Given the description of an element on the screen output the (x, y) to click on. 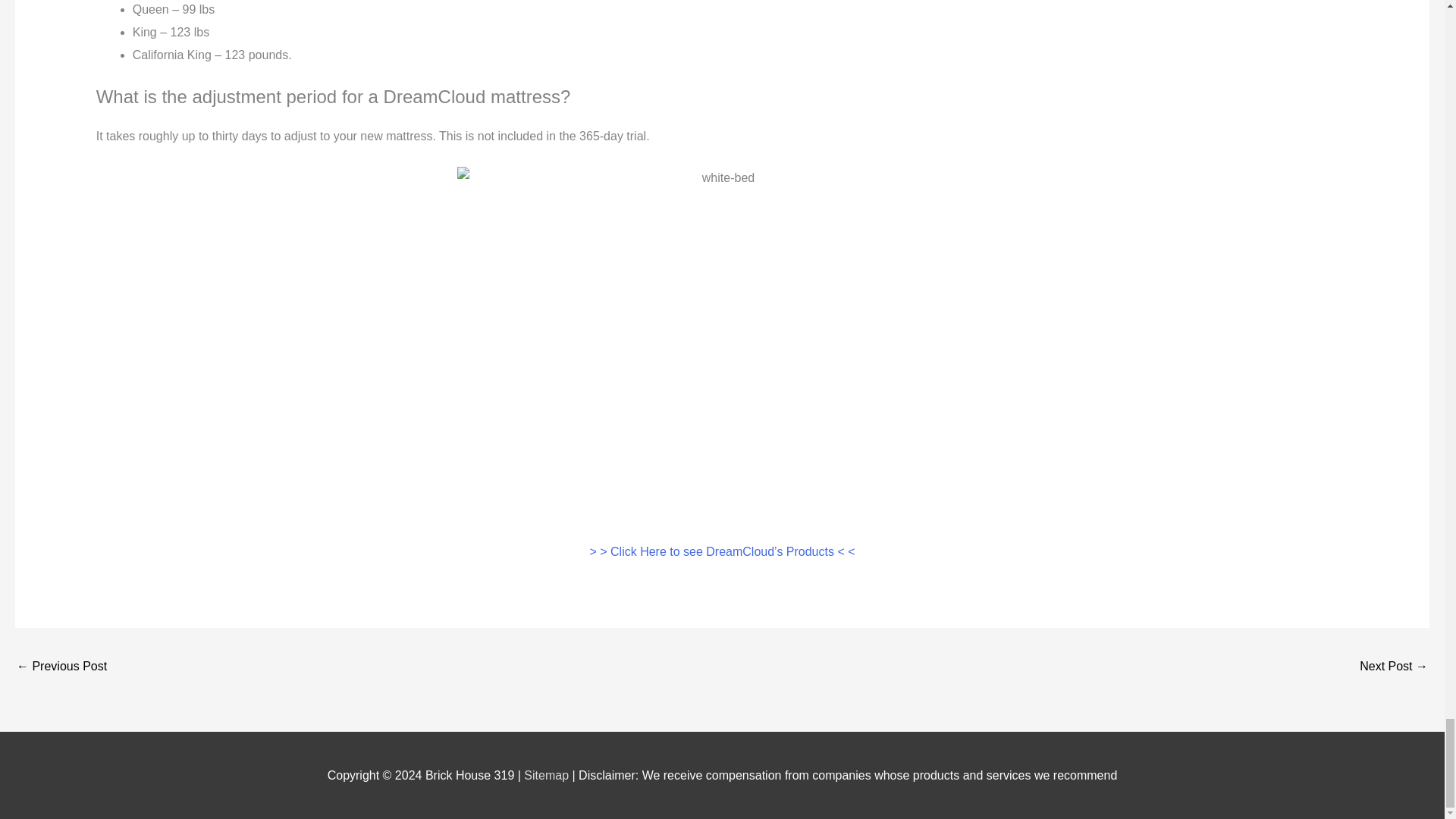
Sitemap (548, 775)
Dreamcloud Mattress Chemicals (61, 667)
Dreamcloud Uae (1393, 667)
